Given the description of an element on the screen output the (x, y) to click on. 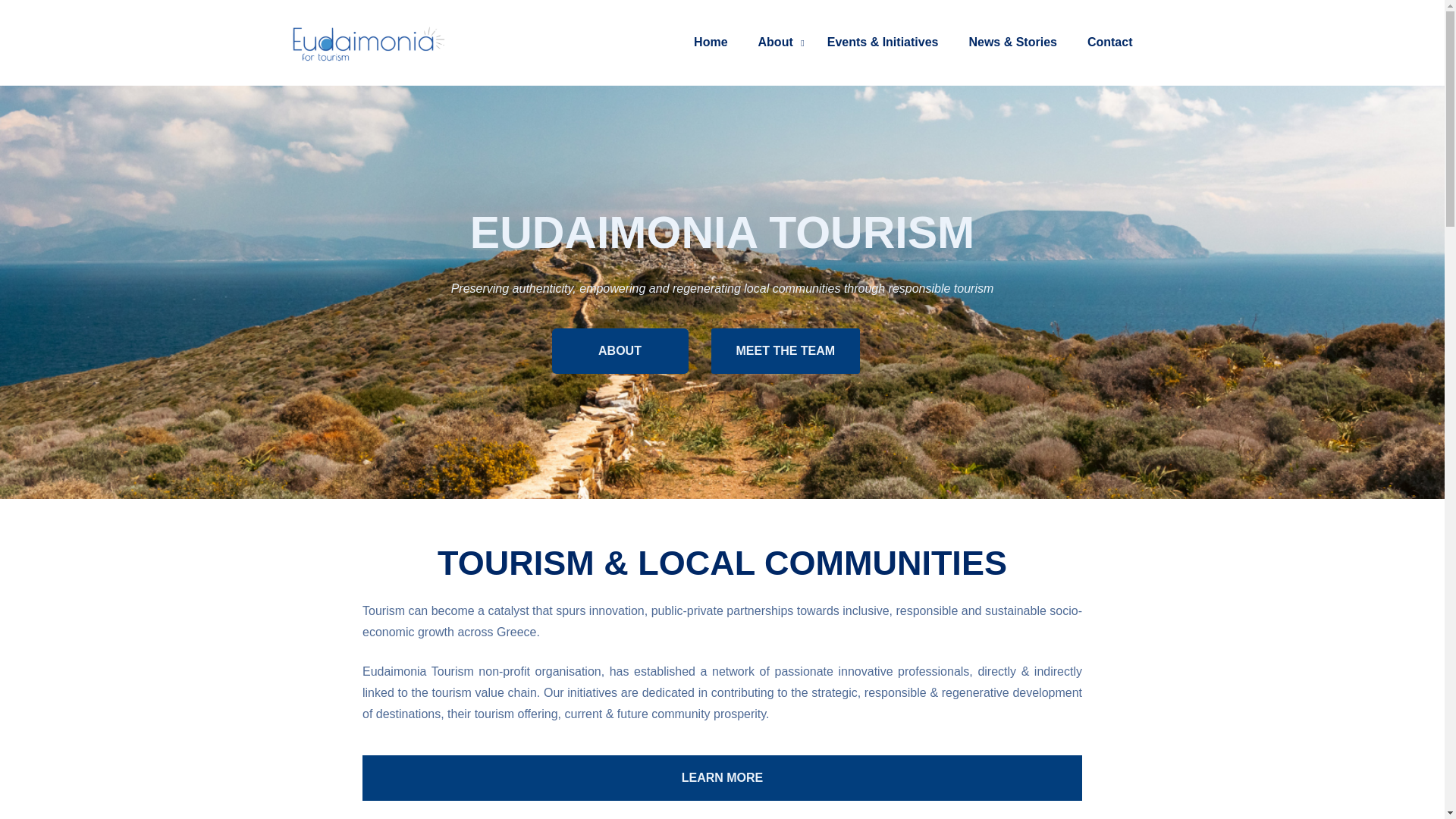
MEET THE TEAM (785, 350)
About (777, 42)
ABOUT (619, 350)
LEARN MORE (957, 777)
Contact (1109, 42)
Home (710, 42)
